Given the description of an element on the screen output the (x, y) to click on. 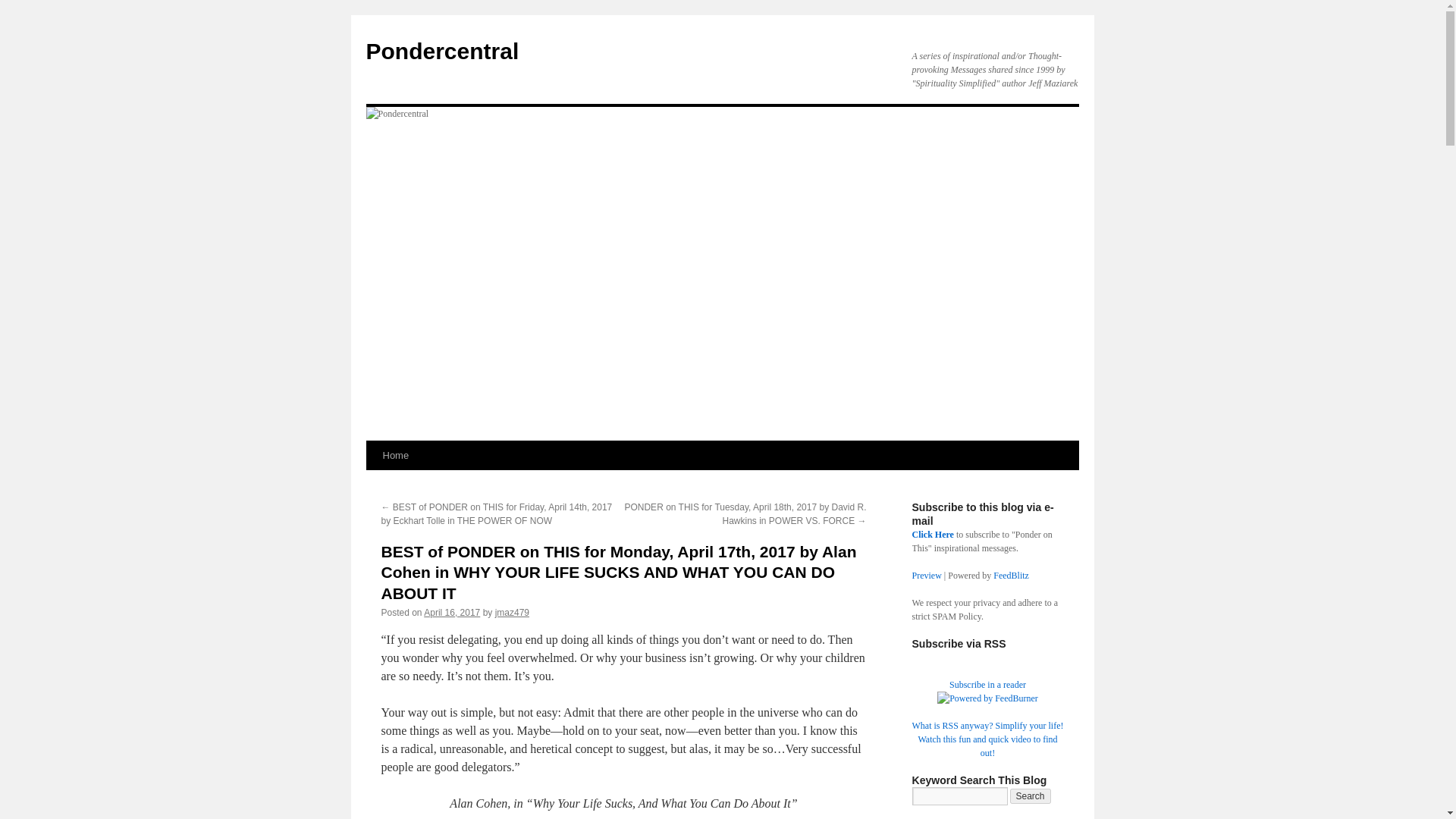
Search (1030, 795)
Skip to content (372, 483)
Search (1030, 795)
Subscribe in a reader (987, 684)
11:30 pm (451, 612)
Subscribe to my feed (987, 684)
Home (395, 455)
View all posts by jmaz479 (512, 612)
April 16, 2017 (451, 612)
Preview (925, 575)
Pondercentral (441, 50)
jmaz479 (512, 612)
Click Here (932, 534)
FeedBlitz (1010, 575)
